Given the description of an element on the screen output the (x, y) to click on. 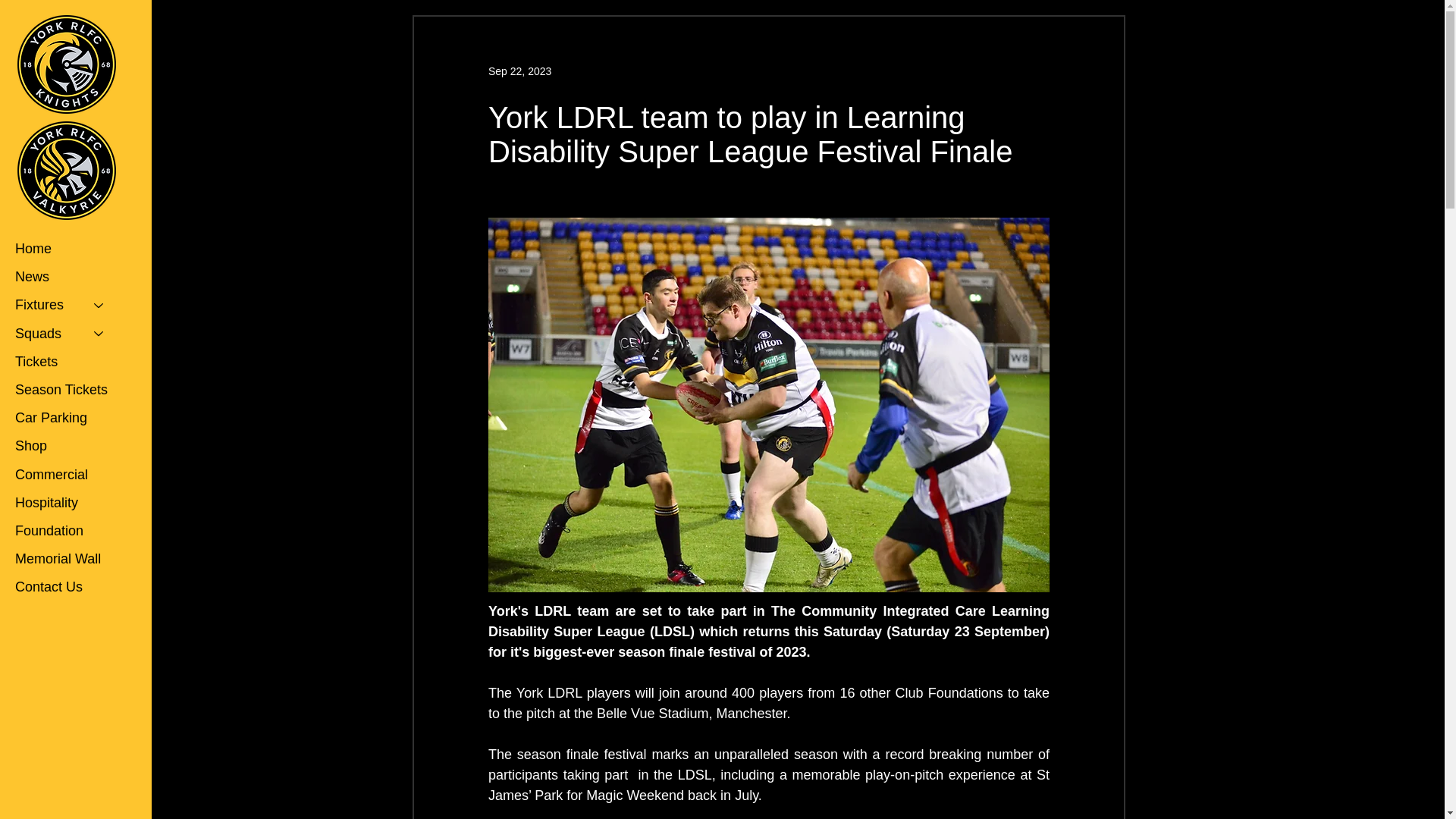
Sep 22, 2023 (519, 70)
News (65, 276)
Commercial (65, 474)
Season Tickets (65, 389)
Car Parking (65, 418)
Home (65, 248)
Tickets (65, 361)
Shop (65, 446)
